Given the description of an element on the screen output the (x, y) to click on. 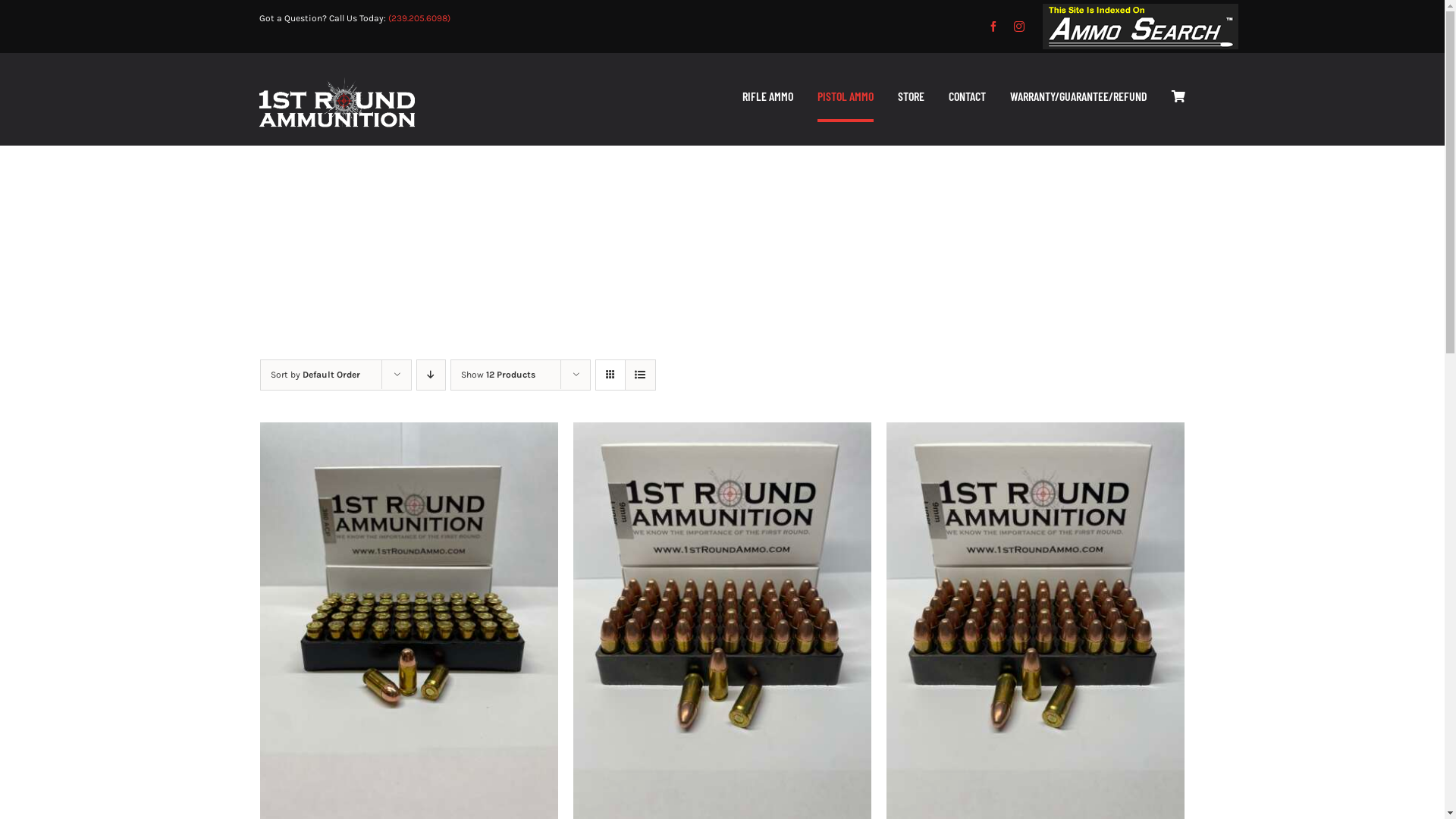
Facebook Element type: hover (993, 26)
STORE Element type: text (910, 97)
PISTOL AMMO Element type: text (845, 97)
(239.205.6098) Element type: text (419, 17)
Sort by Default Order Element type: text (314, 374)
RIFLE AMMO Element type: text (767, 97)
CONTACT Element type: text (966, 97)
Show 12 Products Element type: text (498, 374)
WARRANTY/GUARANTEE/REFUND Element type: text (1078, 97)
Instagram Element type: hover (1018, 26)
